Given the description of an element on the screen output the (x, y) to click on. 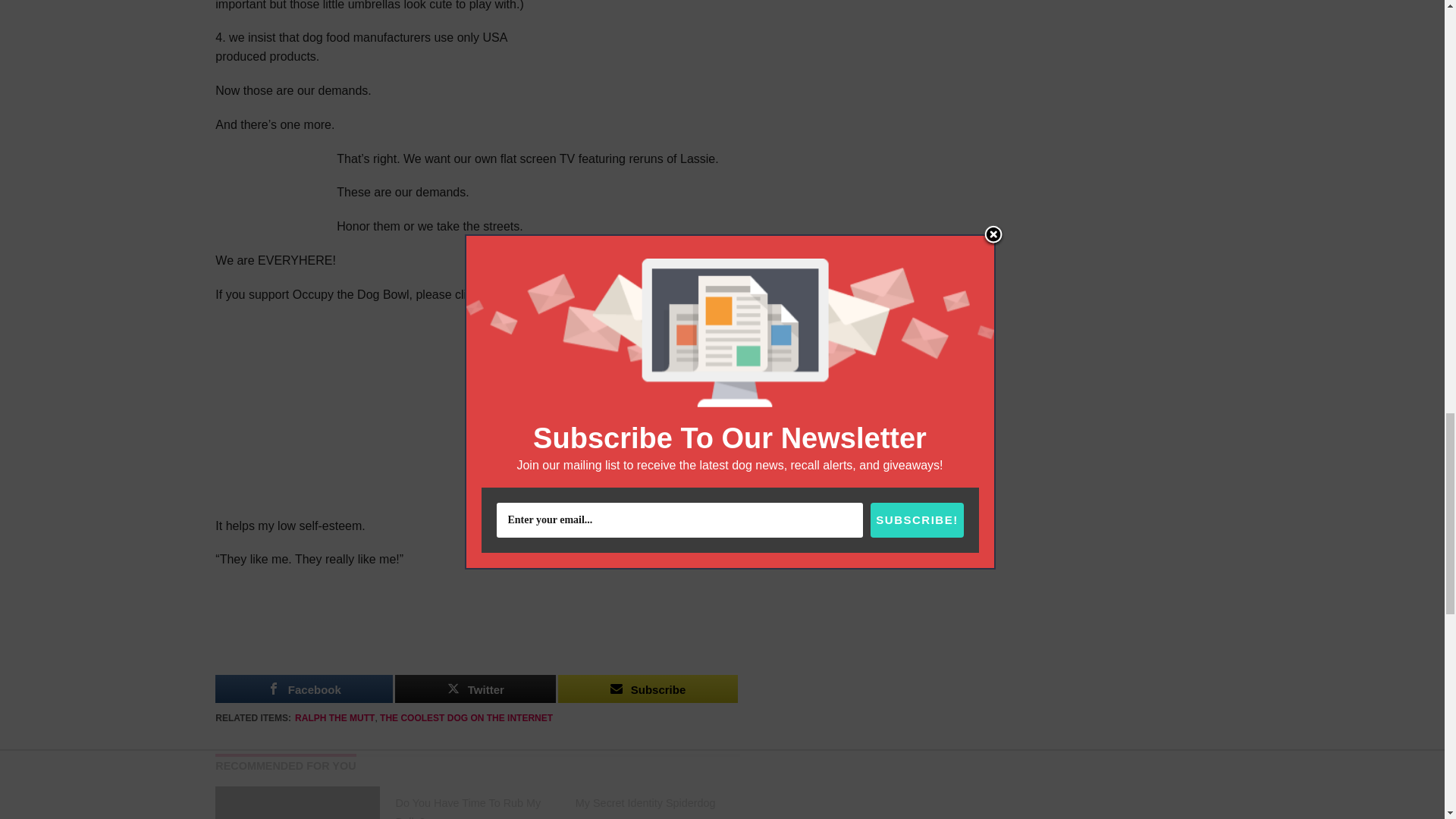
Dogandbowl (645, 27)
Dogtv (269, 193)
Occupy The Dog Bowl 3 (477, 631)
The Story Of Dogs And Passover 4 (297, 802)
